Given the description of an element on the screen output the (x, y) to click on. 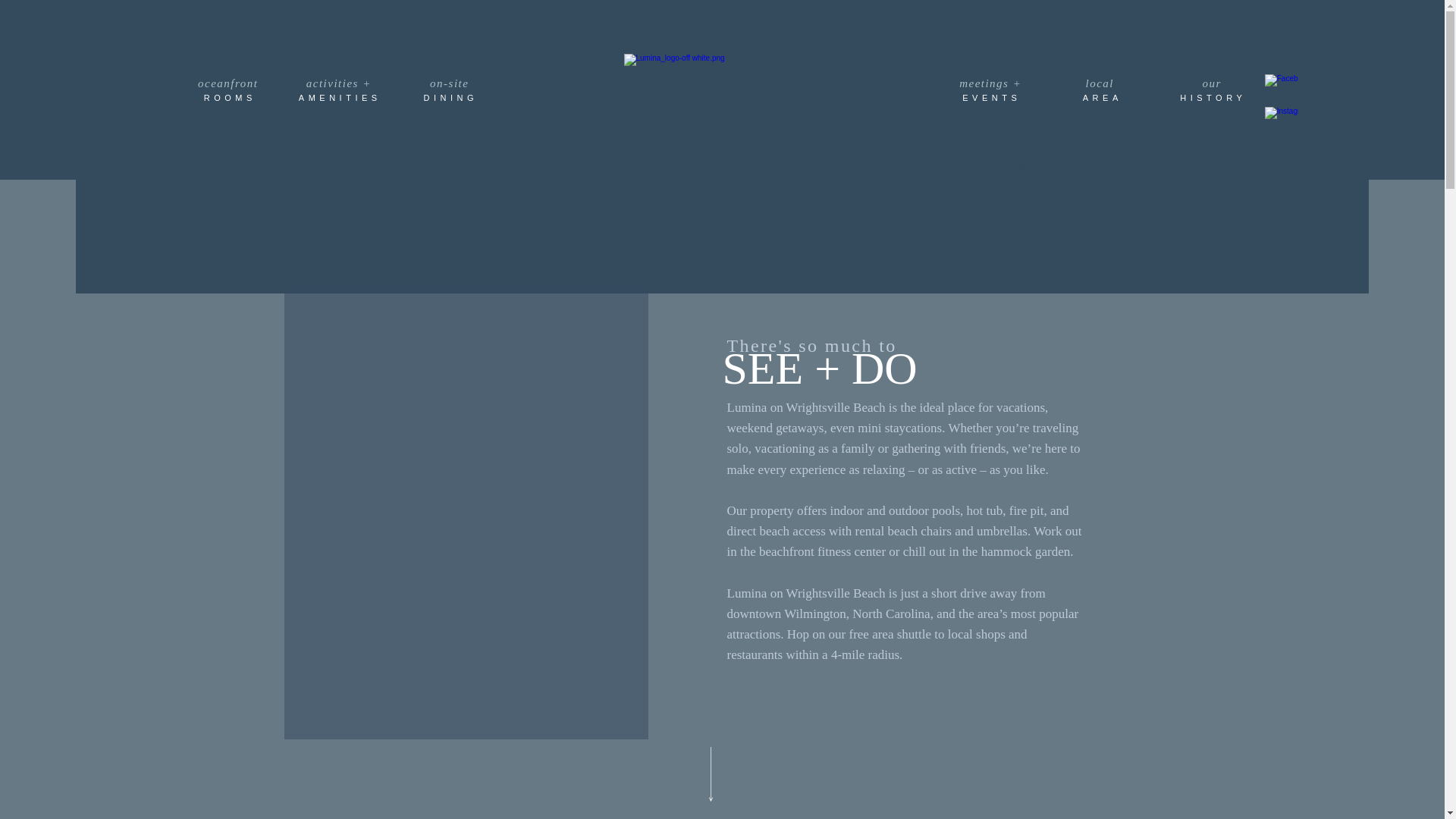
EVENTS (992, 97)
AREA (1103, 97)
HISTORY (1213, 97)
AMENITIES (340, 97)
DINING (451, 97)
Prop (1022, 163)
ROOMS (231, 97)
